Given the description of an element on the screen output the (x, y) to click on. 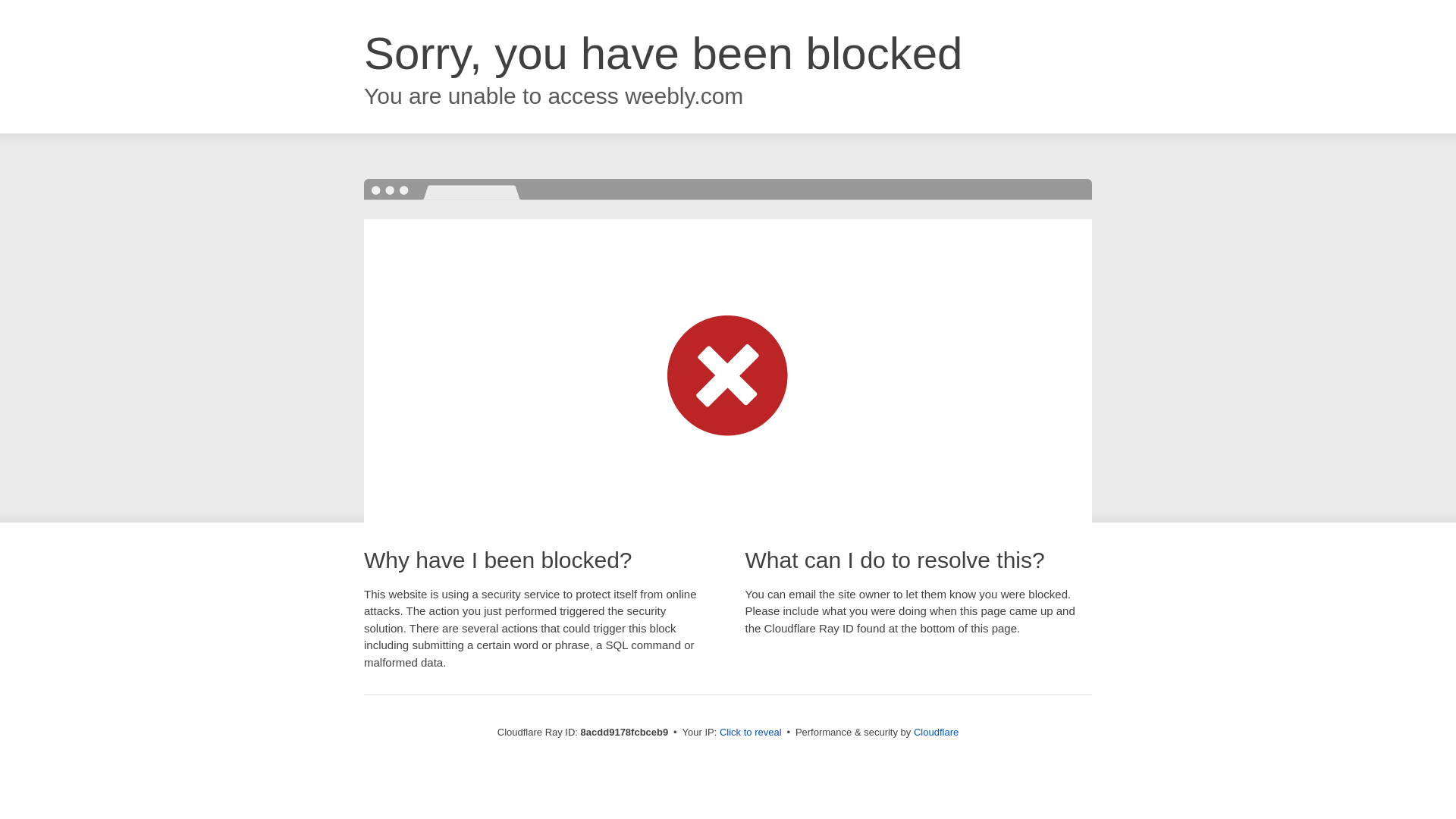
Click to reveal (750, 732)
Cloudflare (936, 731)
